Given the description of an element on the screen output the (x, y) to click on. 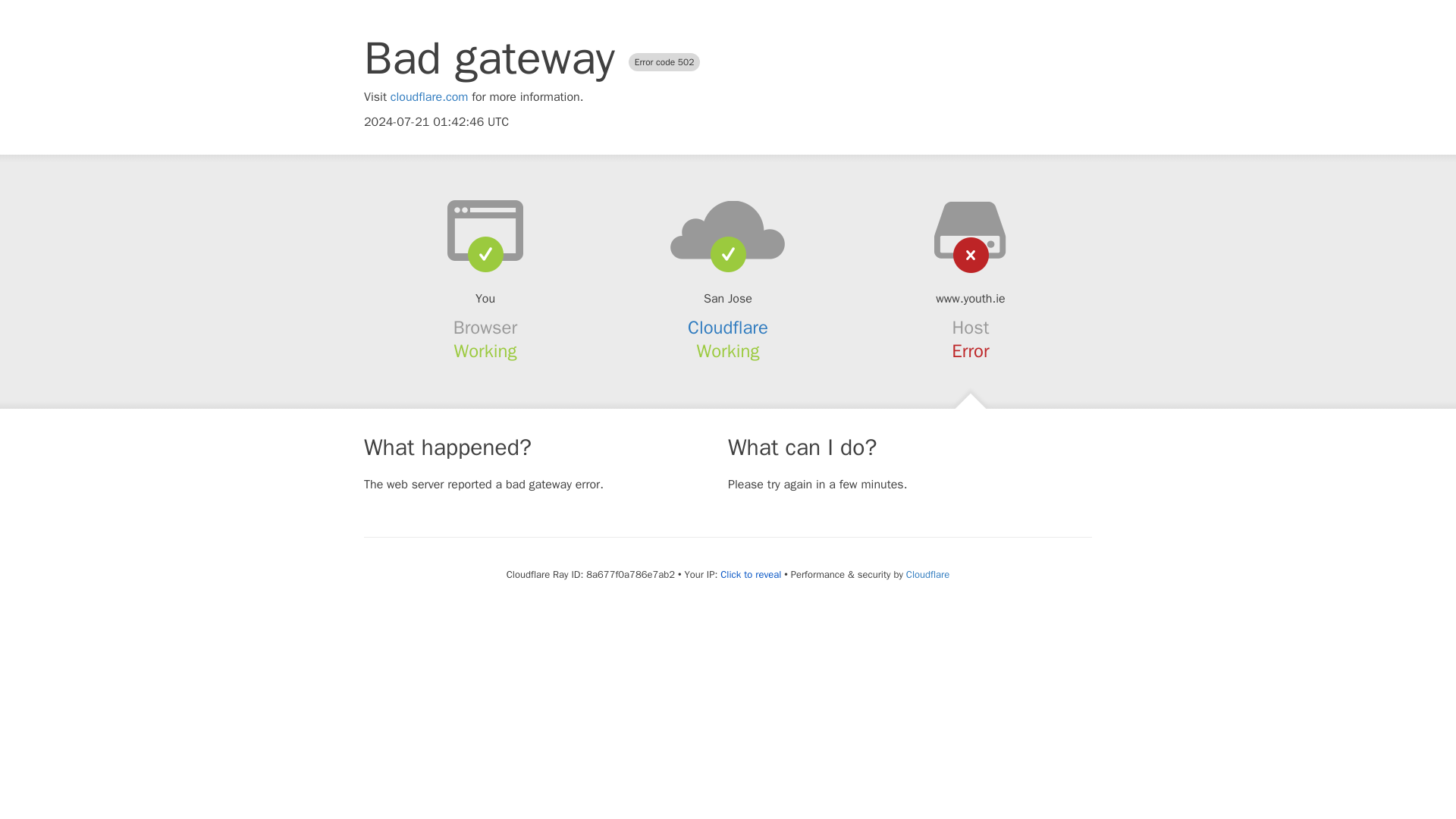
cloudflare.com (429, 96)
Cloudflare (927, 574)
Click to reveal (750, 574)
Cloudflare (727, 327)
